Given the description of an element on the screen output the (x, y) to click on. 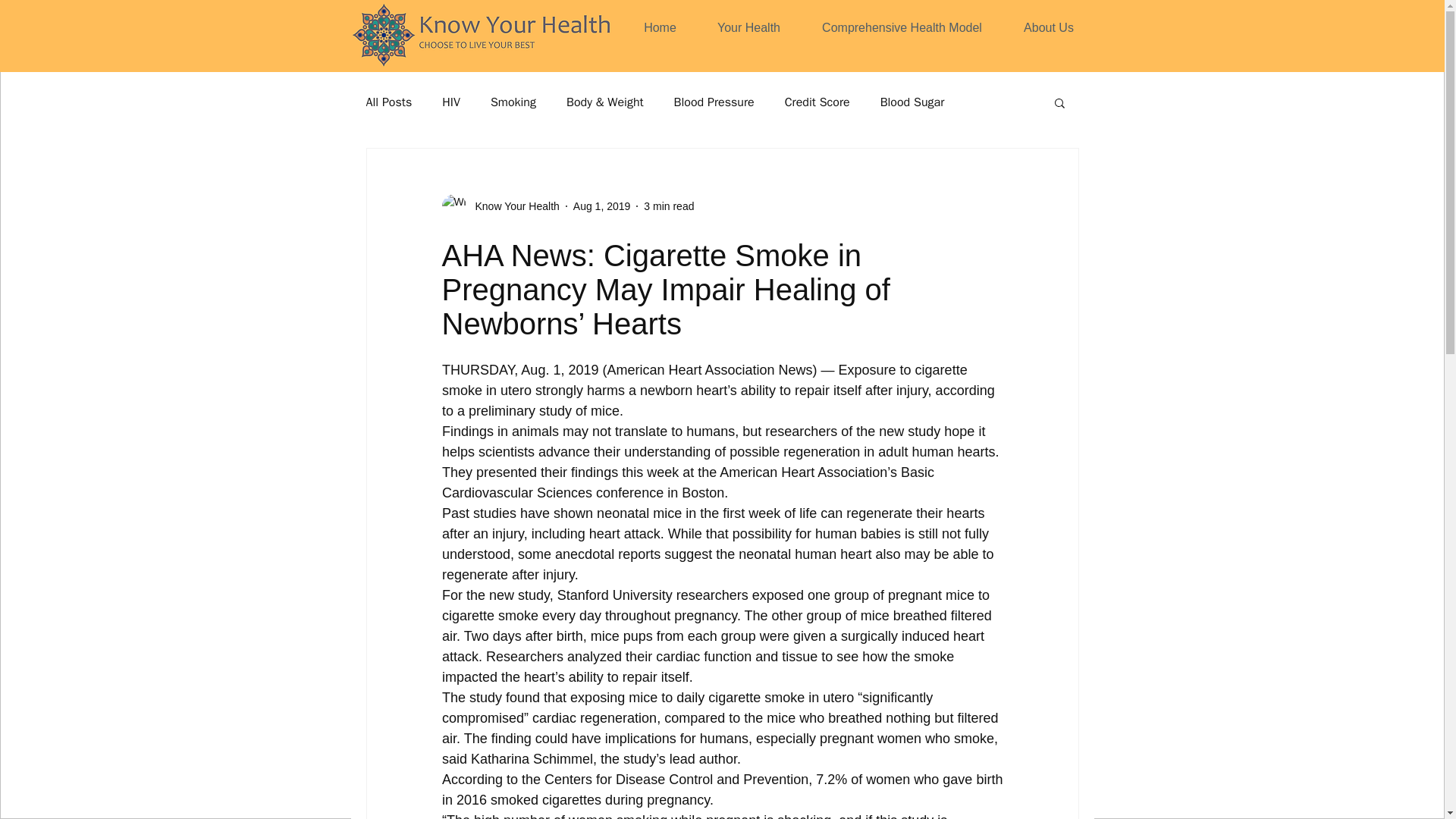
Know Your Health (512, 206)
Blood Sugar (912, 101)
HIV (451, 101)
Credit Score (817, 101)
About Us (1049, 27)
3 min read (668, 205)
Blood Pressure (714, 101)
Comprehensive Health Model (902, 27)
Your Health (748, 27)
All Posts (388, 101)
Home (660, 27)
Aug 1, 2019 (601, 205)
Smoking (512, 101)
